Given the description of an element on the screen output the (x, y) to click on. 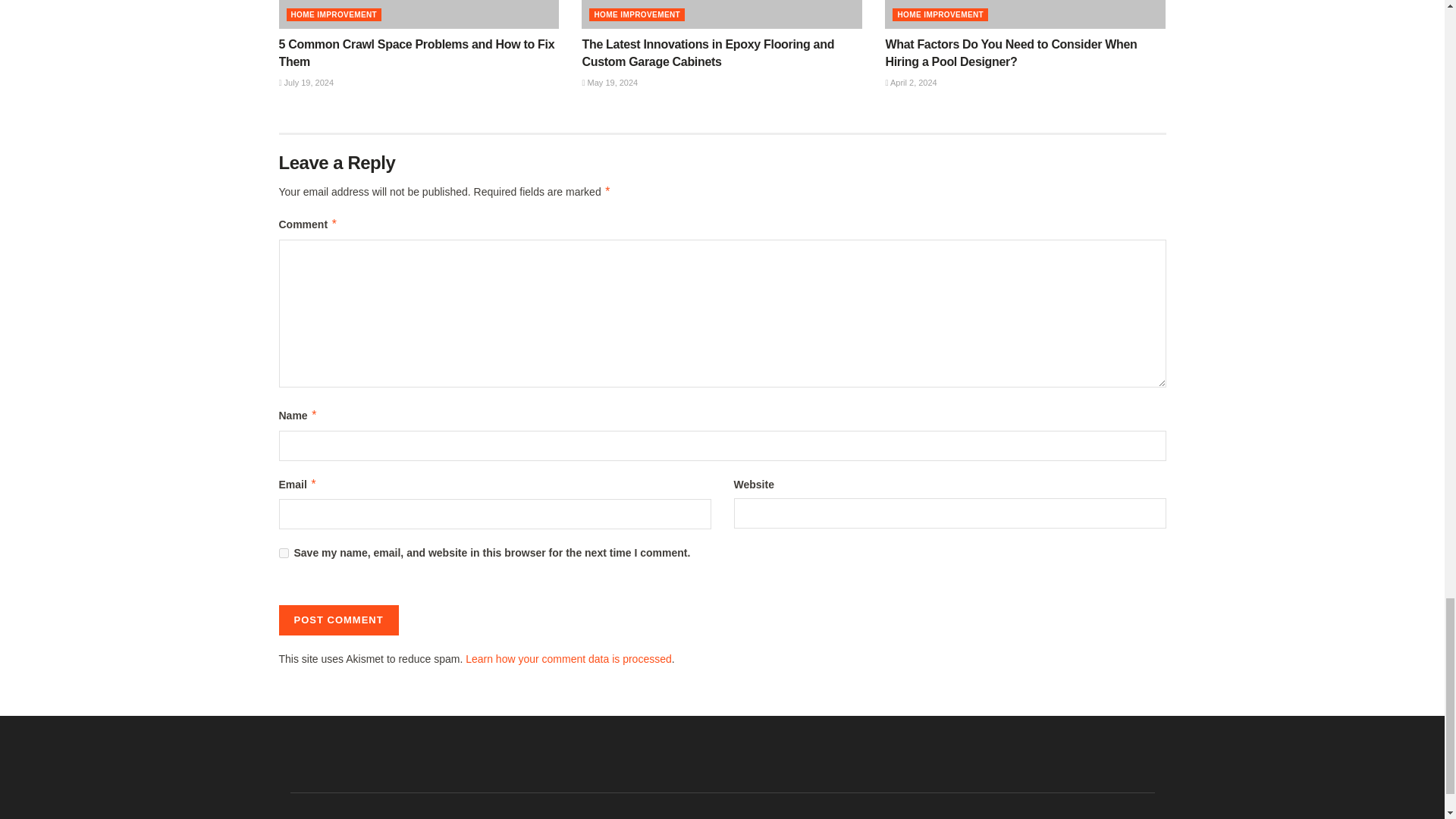
Post Comment (338, 620)
yes (283, 552)
